Given the description of an element on the screen output the (x, y) to click on. 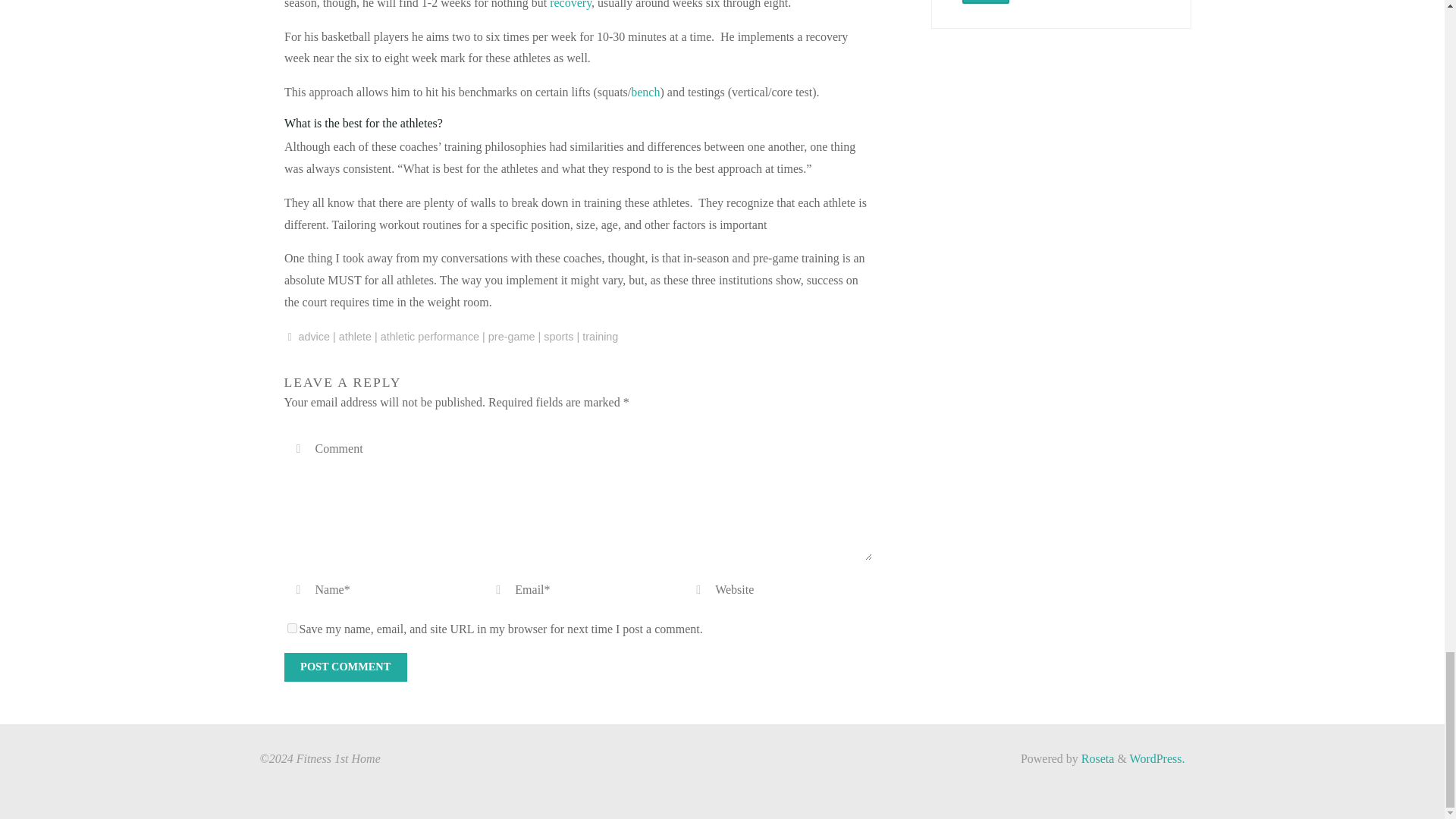
Semantic Personal Publishing Platform (1157, 758)
yes (291, 628)
Post Comment (344, 667)
Roseta WordPress Theme by Cryout Creations (1096, 758)
